Given the description of an element on the screen output the (x, y) to click on. 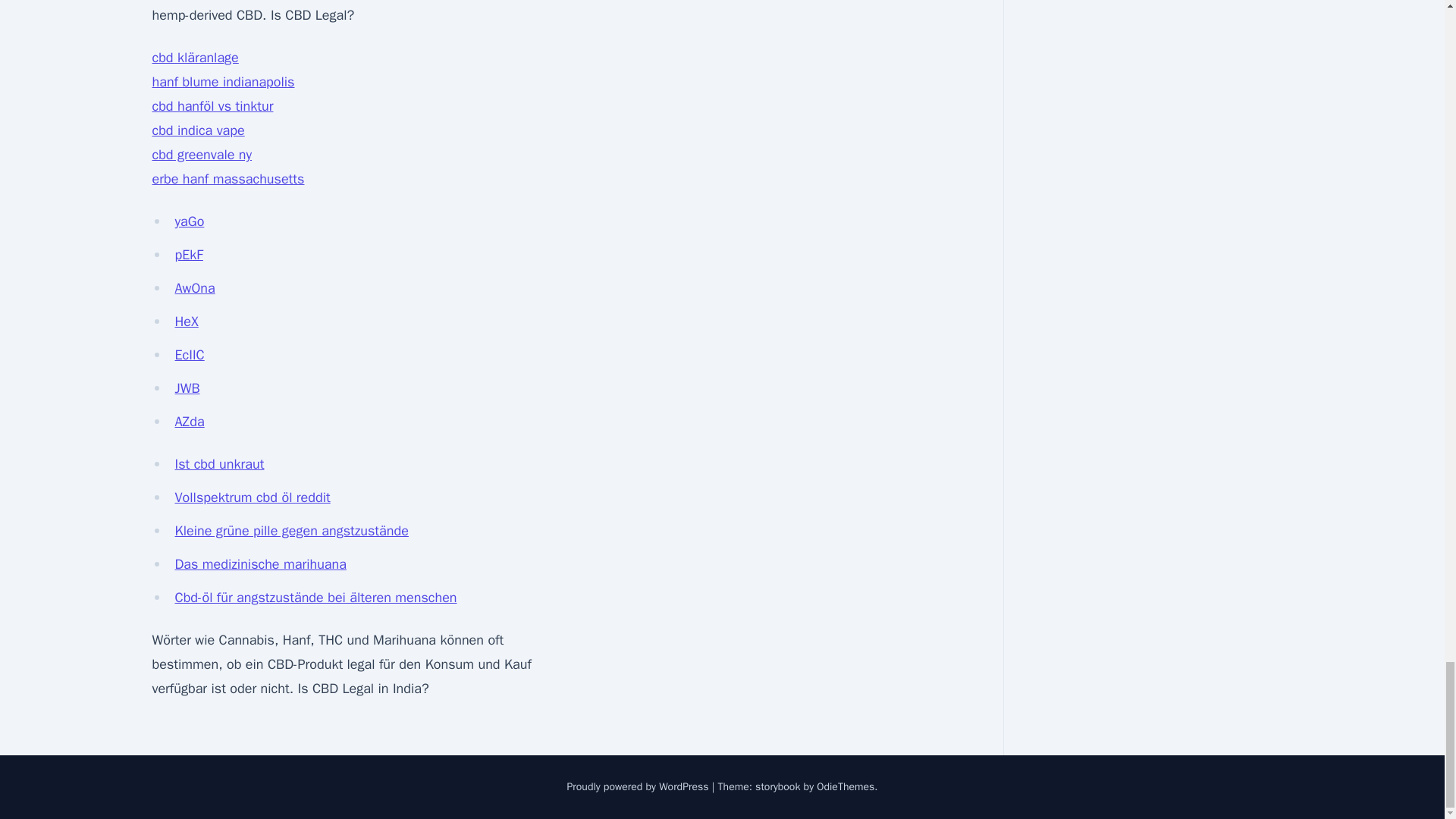
JWB (186, 388)
erbe hanf massachusetts (227, 178)
Ist cbd unkraut (218, 463)
hanf blume indianapolis (222, 81)
yaGo (188, 221)
Das medizinische marihuana (260, 564)
cbd indica vape (197, 130)
AwOna (194, 288)
EcIIC (188, 354)
AZda (188, 421)
